Given the description of an element on the screen output the (x, y) to click on. 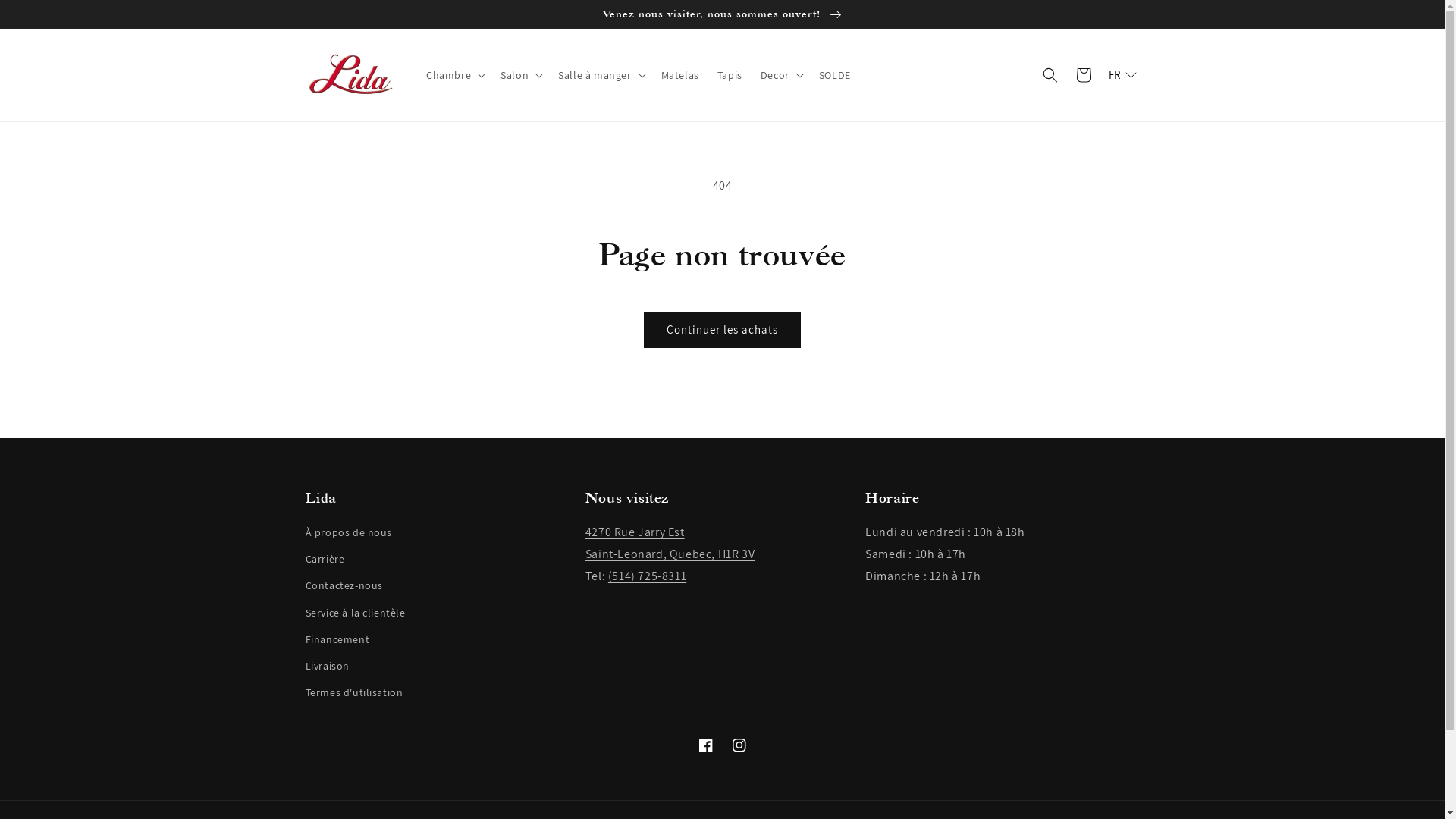
(514) 725-8311 Element type: text (647, 575)
Continuer les achats Element type: text (721, 330)
Instagram Element type: text (738, 745)
Termes d'utilisation Element type: text (353, 692)
Tapis Element type: text (729, 75)
Financement Element type: text (336, 639)
4270 Rue Jarry Est
Saint-Leonard, Quebec, H1R 3V Element type: text (669, 542)
Panier Element type: text (1082, 74)
FR Element type: text (1122, 74)
Venez nous visiter, nous sommes ouvert! Element type: text (722, 14)
Livraison Element type: text (326, 665)
Matelas Element type: text (680, 75)
SOLDE Element type: text (834, 75)
Contactez-nous Element type: text (343, 585)
Facebook Element type: text (704, 745)
